Given the description of an element on the screen output the (x, y) to click on. 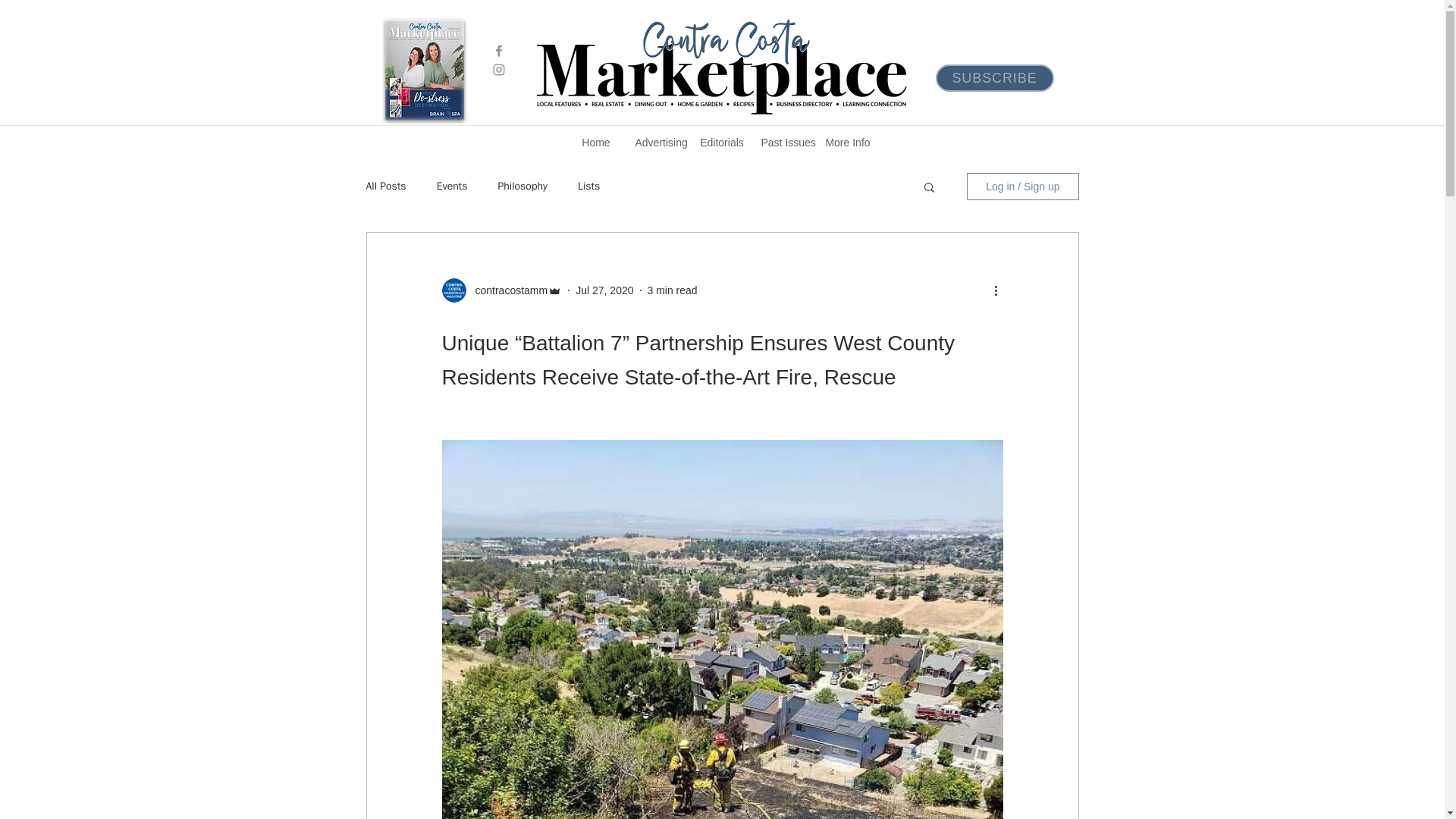
Jul 27, 2020 (604, 289)
All Posts (385, 186)
Events (451, 186)
SUBSCRIBE (995, 77)
Past Issues (785, 142)
3 min read (672, 289)
Editorials (721, 142)
Philosophy (522, 186)
Advertising (658, 142)
contracostamm (506, 289)
